Given the description of an element on the screen output the (x, y) to click on. 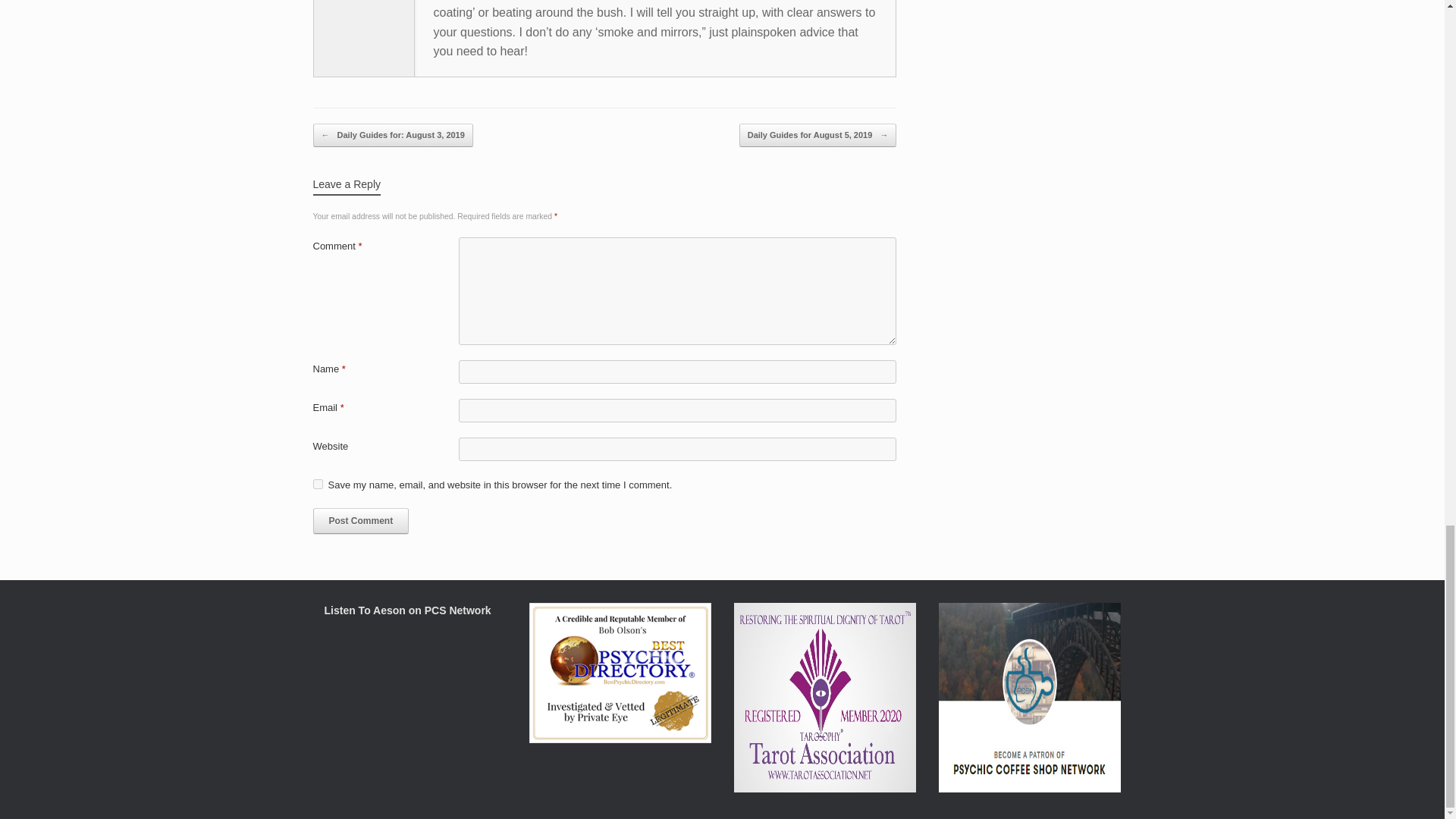
Post Comment (361, 520)
yes (317, 483)
Best Psychic Directory (620, 739)
Post Comment (361, 520)
